Given the description of an element on the screen output the (x, y) to click on. 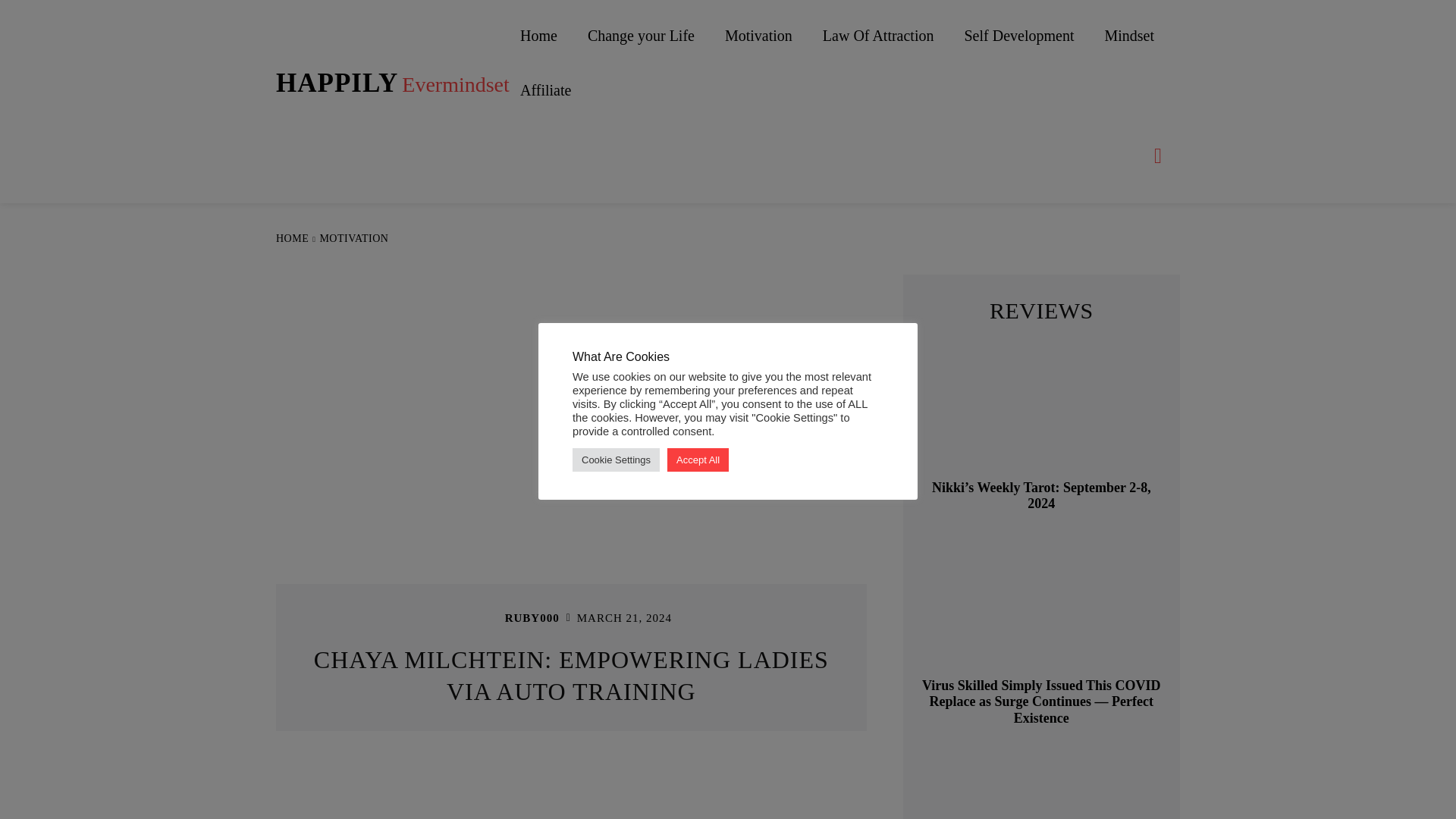
Self Development (1019, 35)
Mindset (1129, 35)
Ruby000 (485, 617)
Motivation (759, 35)
Affiliate (545, 90)
View all posts in Motivation (353, 238)
Change your Life (392, 83)
Law Of Attraction (641, 35)
Home (878, 35)
